Given the description of an element on the screen output the (x, y) to click on. 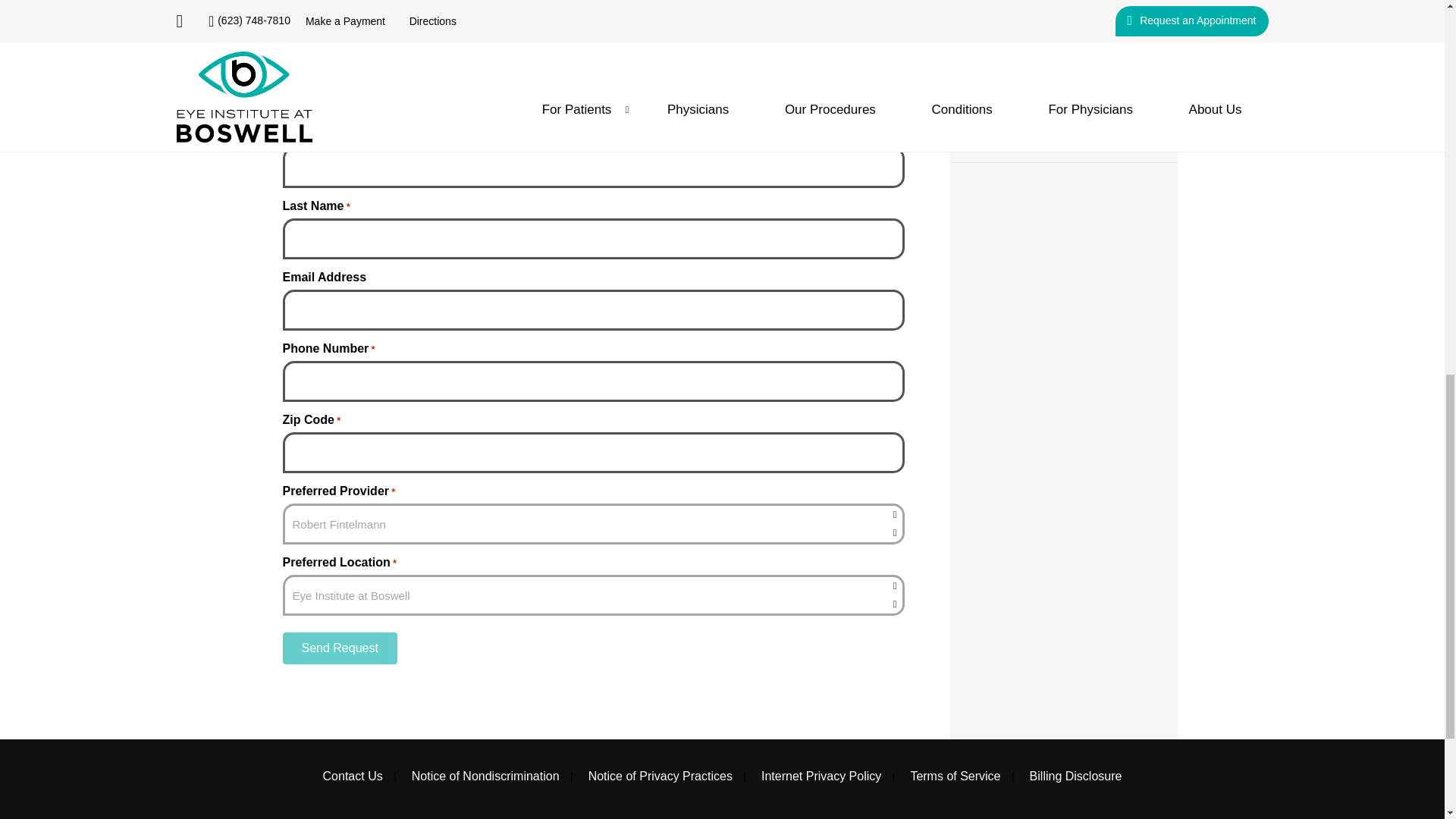
www.mwuclinics.com (469, 2)
Send Request (339, 648)
Send Request (339, 648)
